Given the description of an element on the screen output the (x, y) to click on. 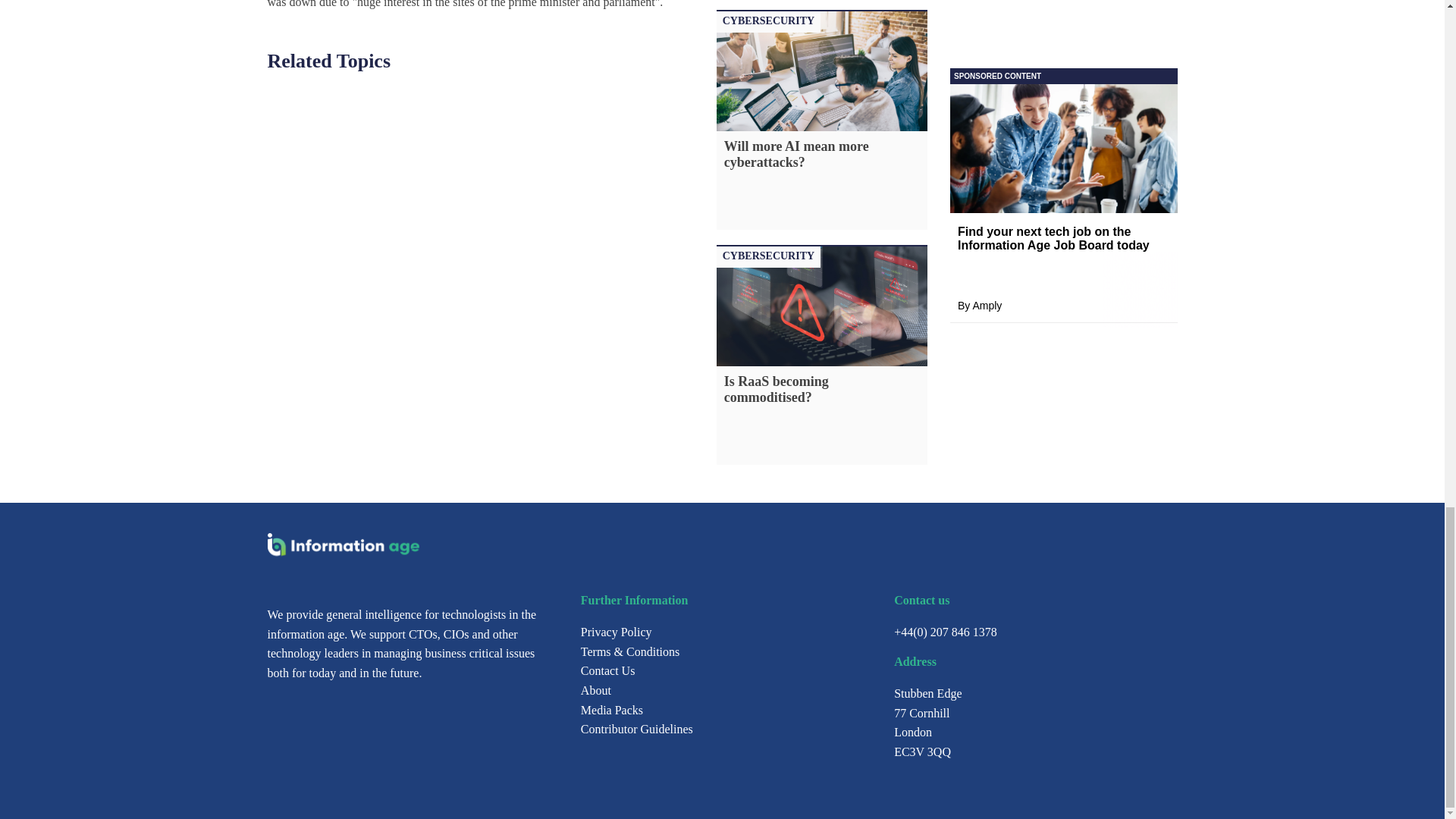
3rd party ad content (1062, 76)
